Given the description of an element on the screen output the (x, y) to click on. 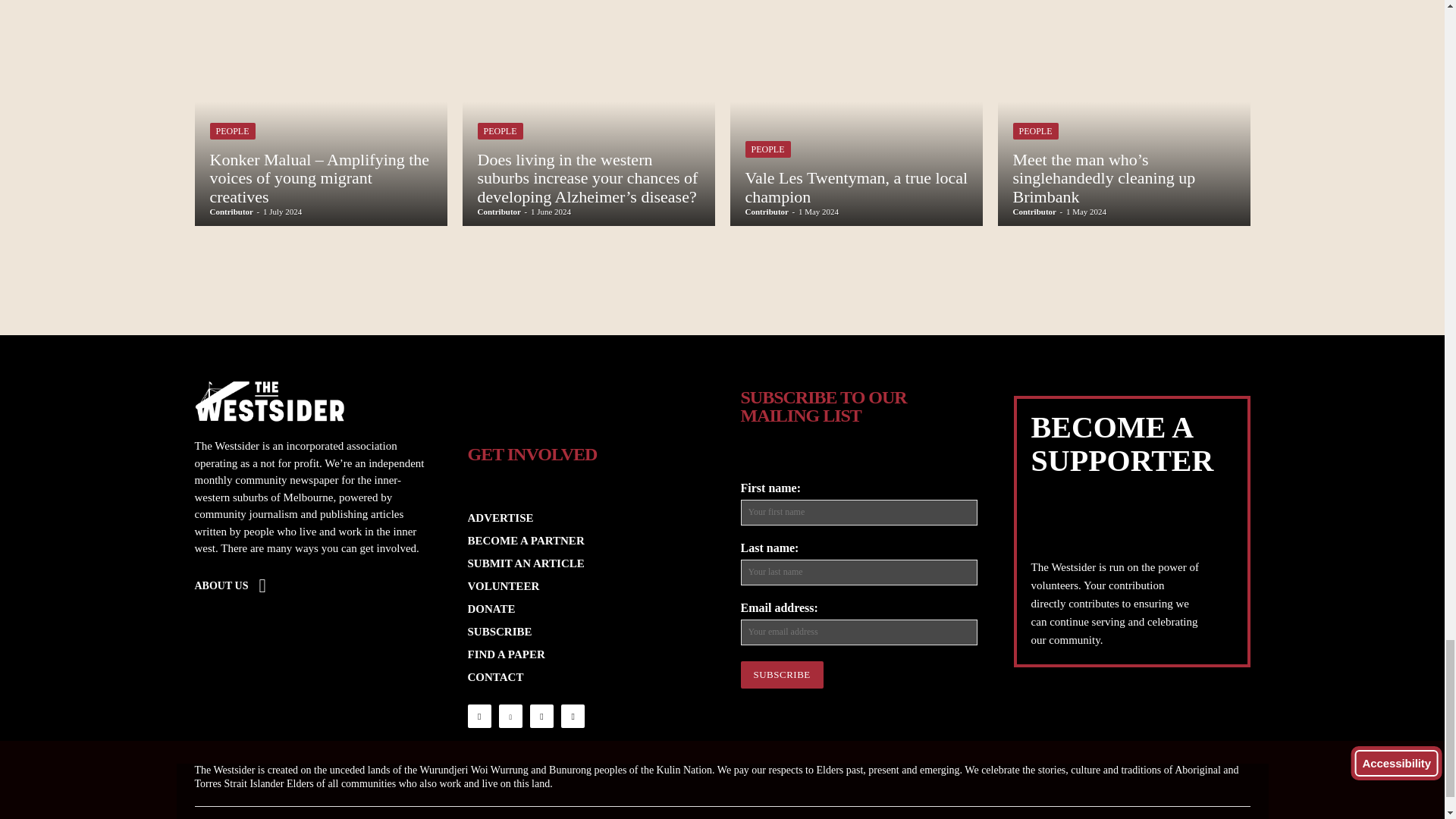
Subscribe (780, 674)
